Given the description of an element on the screen output the (x, y) to click on. 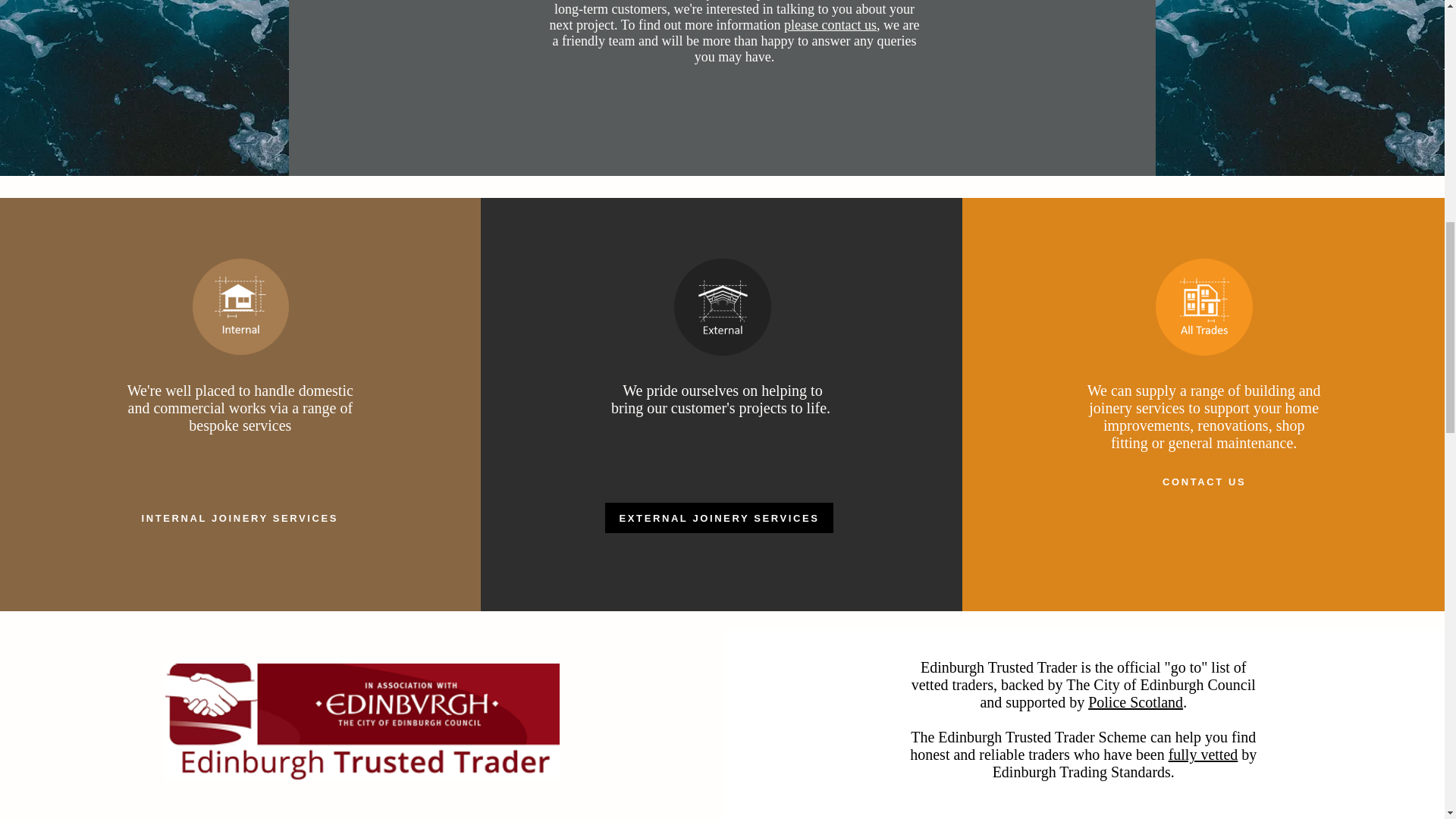
INTERNAL JOINERY SERVICES (239, 517)
EXTERNAL JOINERY SERVICES (718, 517)
please contact us (830, 24)
CONTACT US (1204, 481)
Police Scotland (1134, 701)
fully vetted (1204, 754)
